Given the description of an element on the screen output the (x, y) to click on. 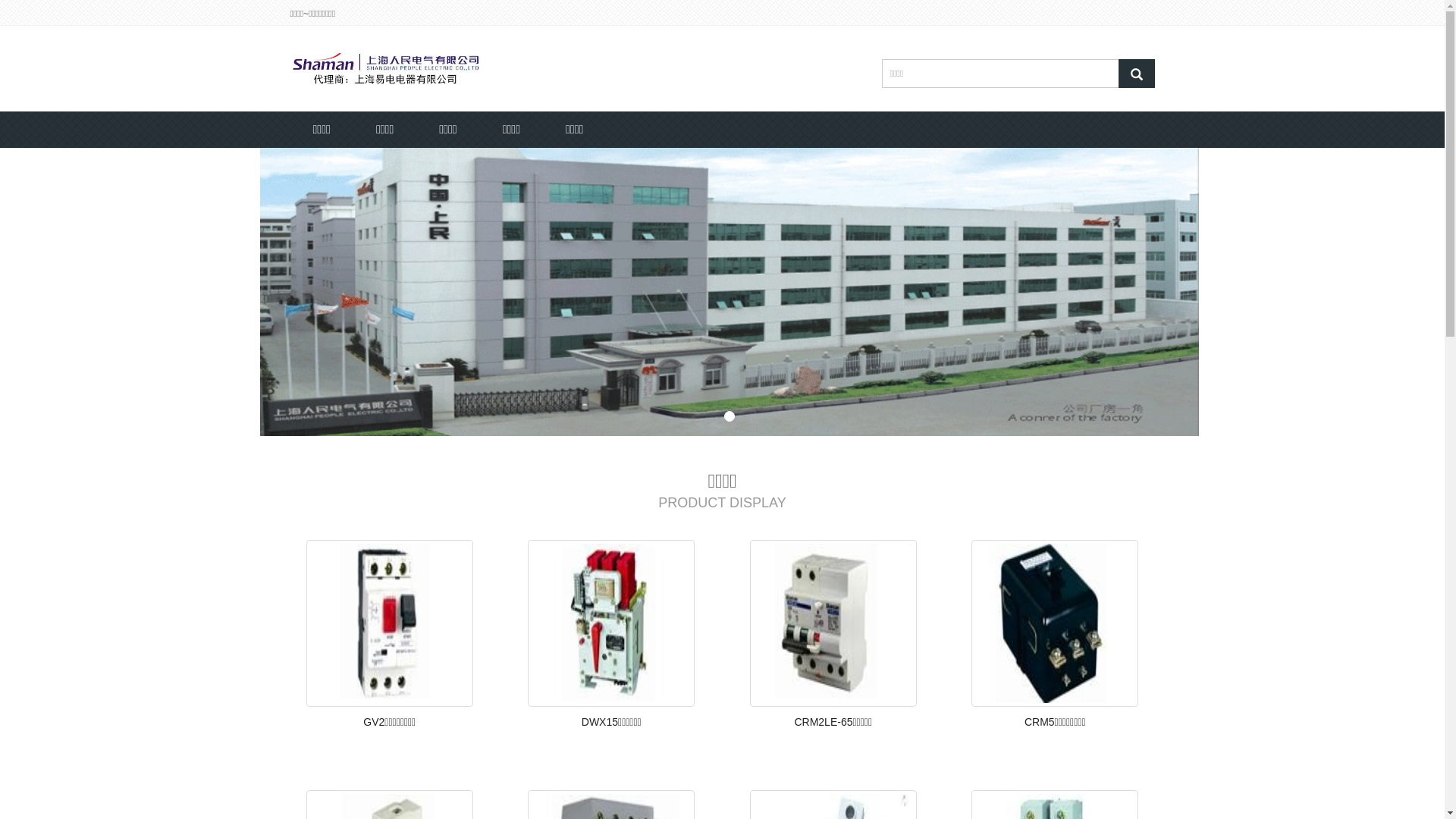
1 Element type: text (729, 416)
